Given the description of an element on the screen output the (x, y) to click on. 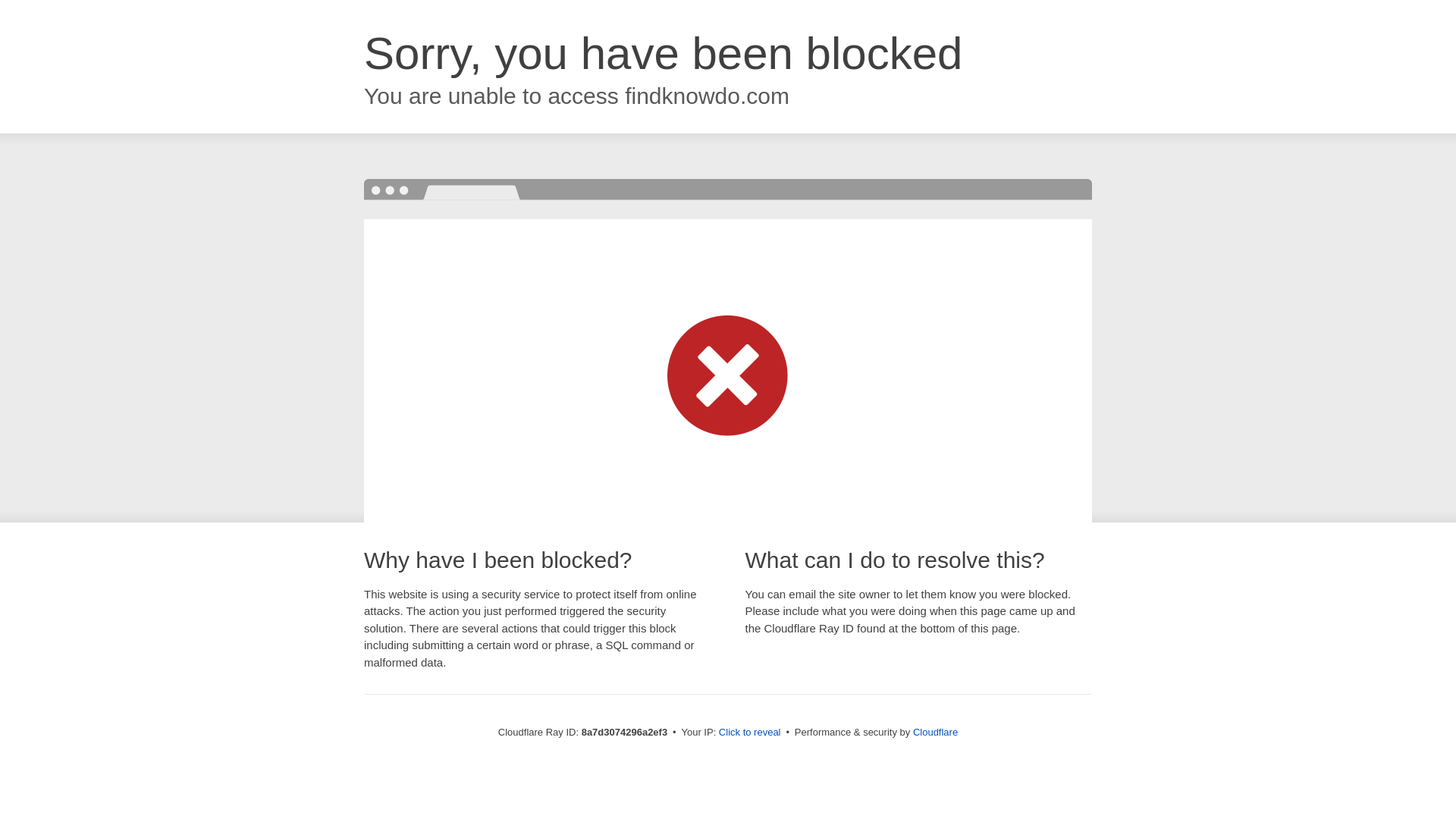
Cloudflare (935, 731)
Click to reveal (749, 732)
